Given the description of an element on the screen output the (x, y) to click on. 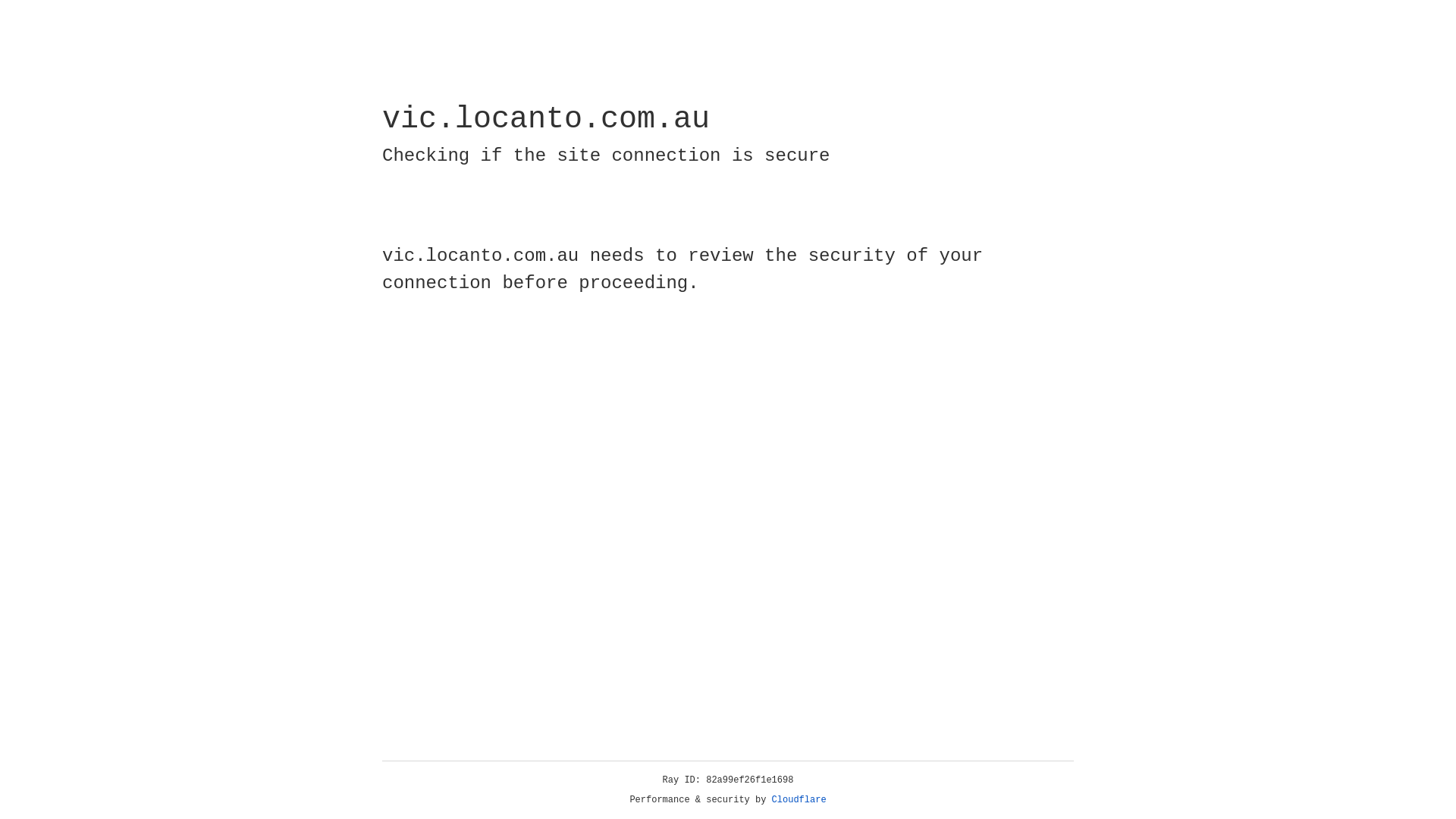
Cloudflare Element type: text (798, 799)
